Given the description of an element on the screen output the (x, y) to click on. 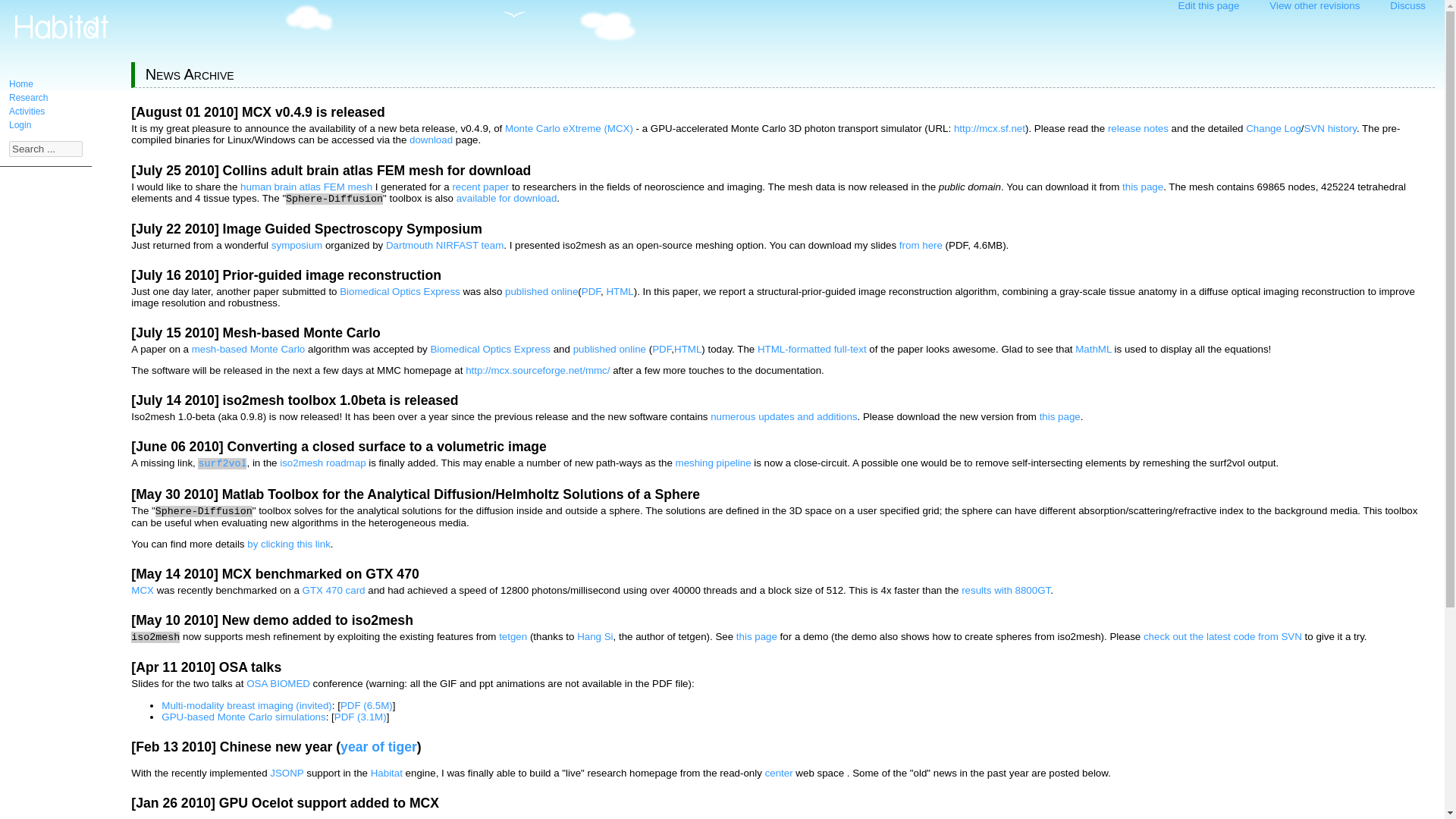
Biomedical Optics Express (489, 348)
recent paper (479, 186)
MCX (142, 590)
Activities (26, 111)
Change Log (1273, 128)
HTML-formatted full-text (811, 348)
published online (541, 291)
iso2mesh roadmap (322, 462)
Research (28, 97)
Edit this page (1208, 5)
from here (920, 244)
Search ... (45, 148)
Search ... (45, 148)
numerous updates and additions (783, 416)
human brain atlas FEM mesh (306, 186)
